Given the description of an element on the screen output the (x, y) to click on. 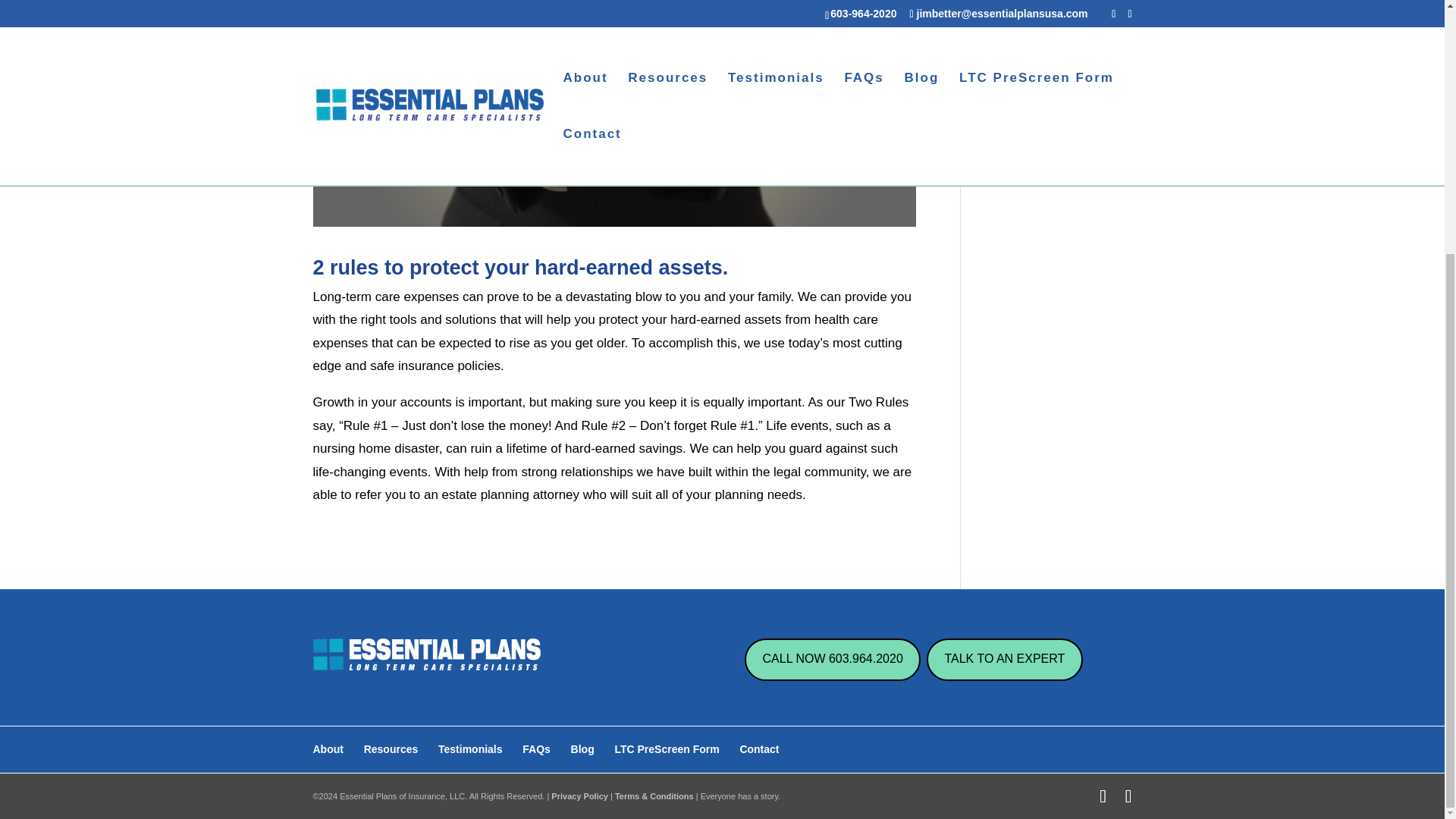
Blog (582, 748)
FAQs (536, 748)
Contact (758, 748)
About (327, 748)
CALL NOW 603.964.2020 (832, 659)
Testimonials (470, 748)
Resources (391, 748)
LTC PreScreen Form (666, 748)
Testimonials (1019, 2)
TALK TO AN EXPERT (1004, 659)
